Given the description of an element on the screen output the (x, y) to click on. 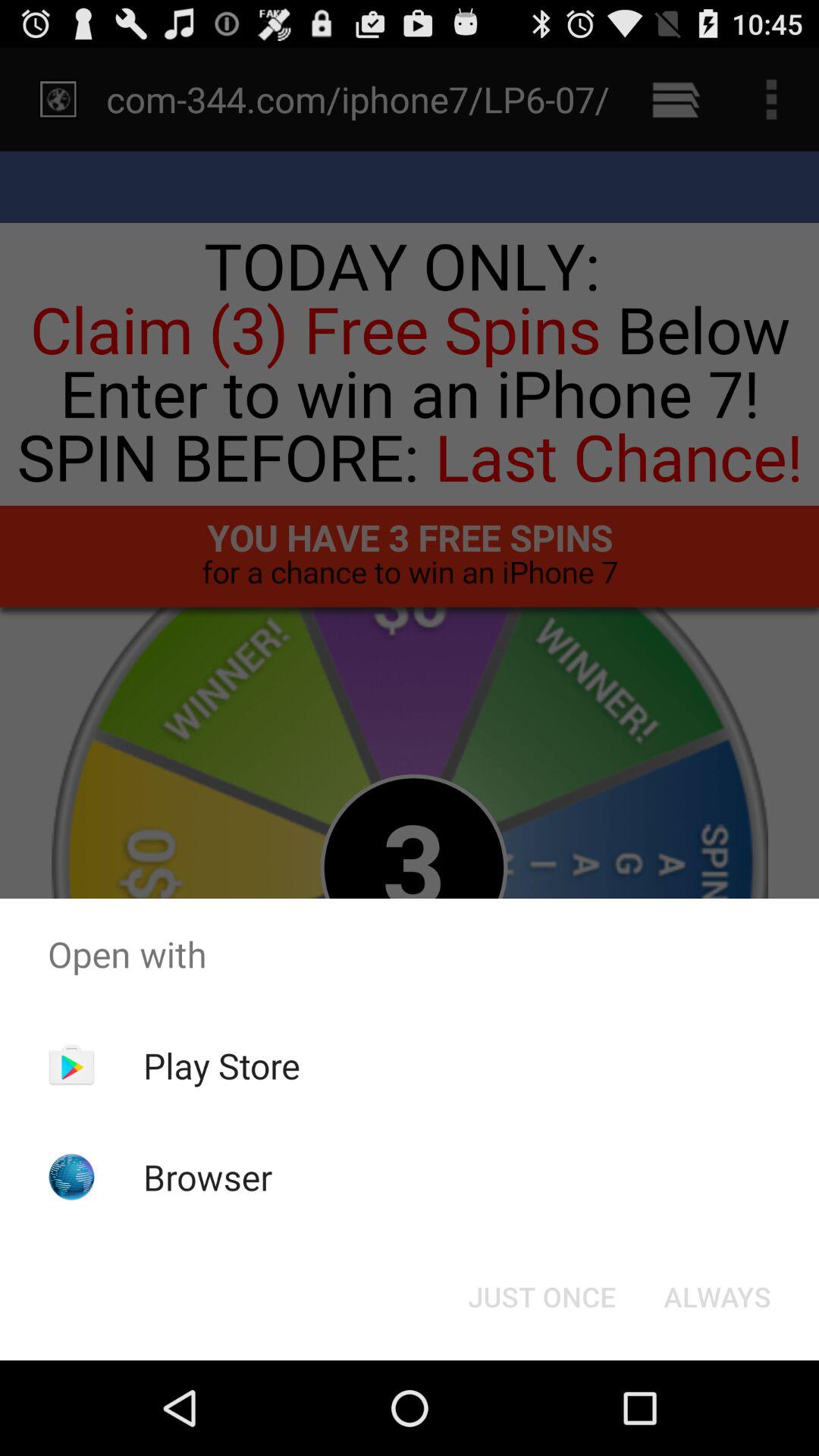
press the item to the right of the just once item (717, 1296)
